Given the description of an element on the screen output the (x, y) to click on. 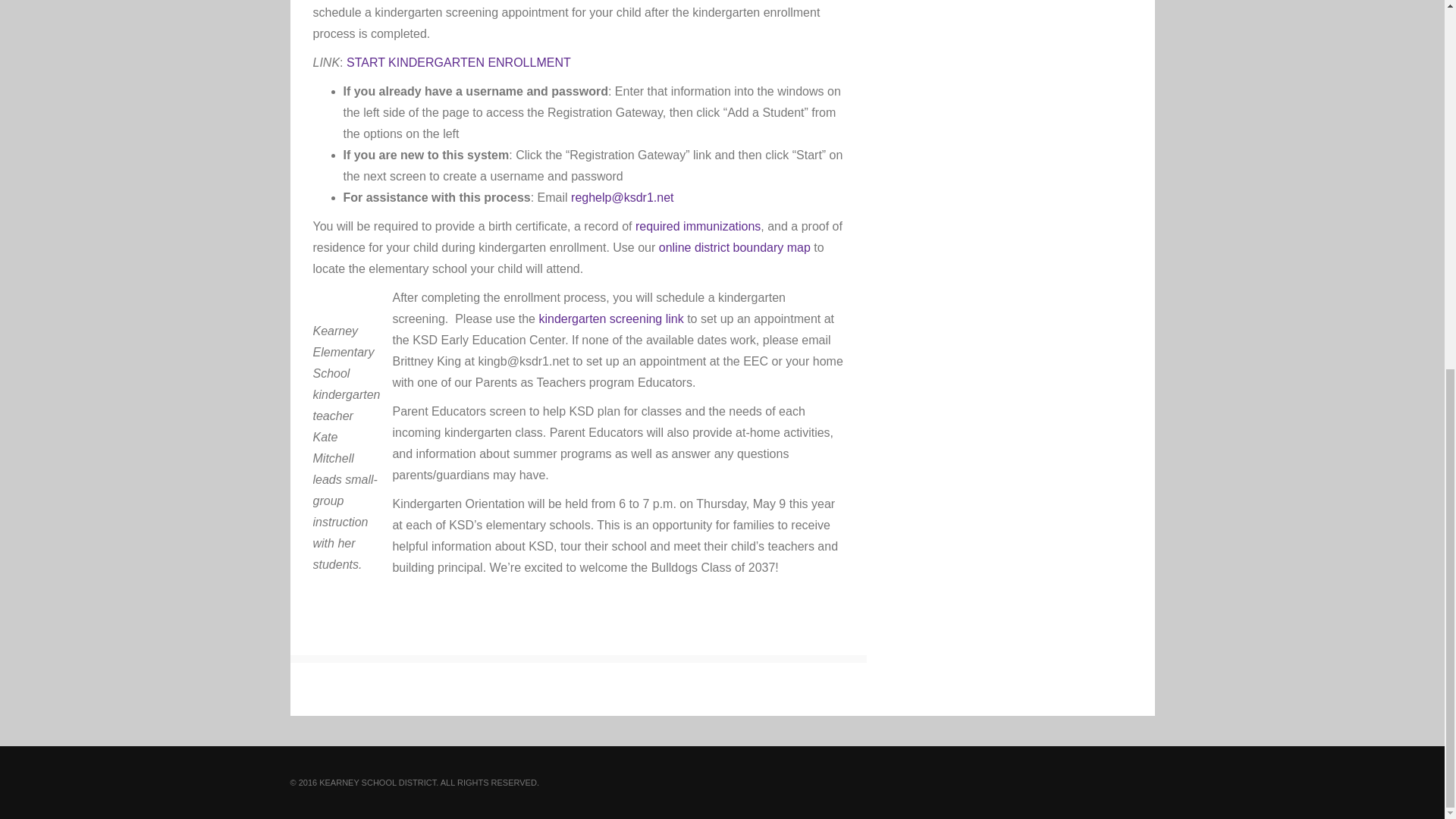
online district boundary map (734, 246)
START KINDERGARTEN ENROLLMENT (458, 62)
required immunizations (697, 226)
kindergarten screening link (610, 318)
